Given the description of an element on the screen output the (x, y) to click on. 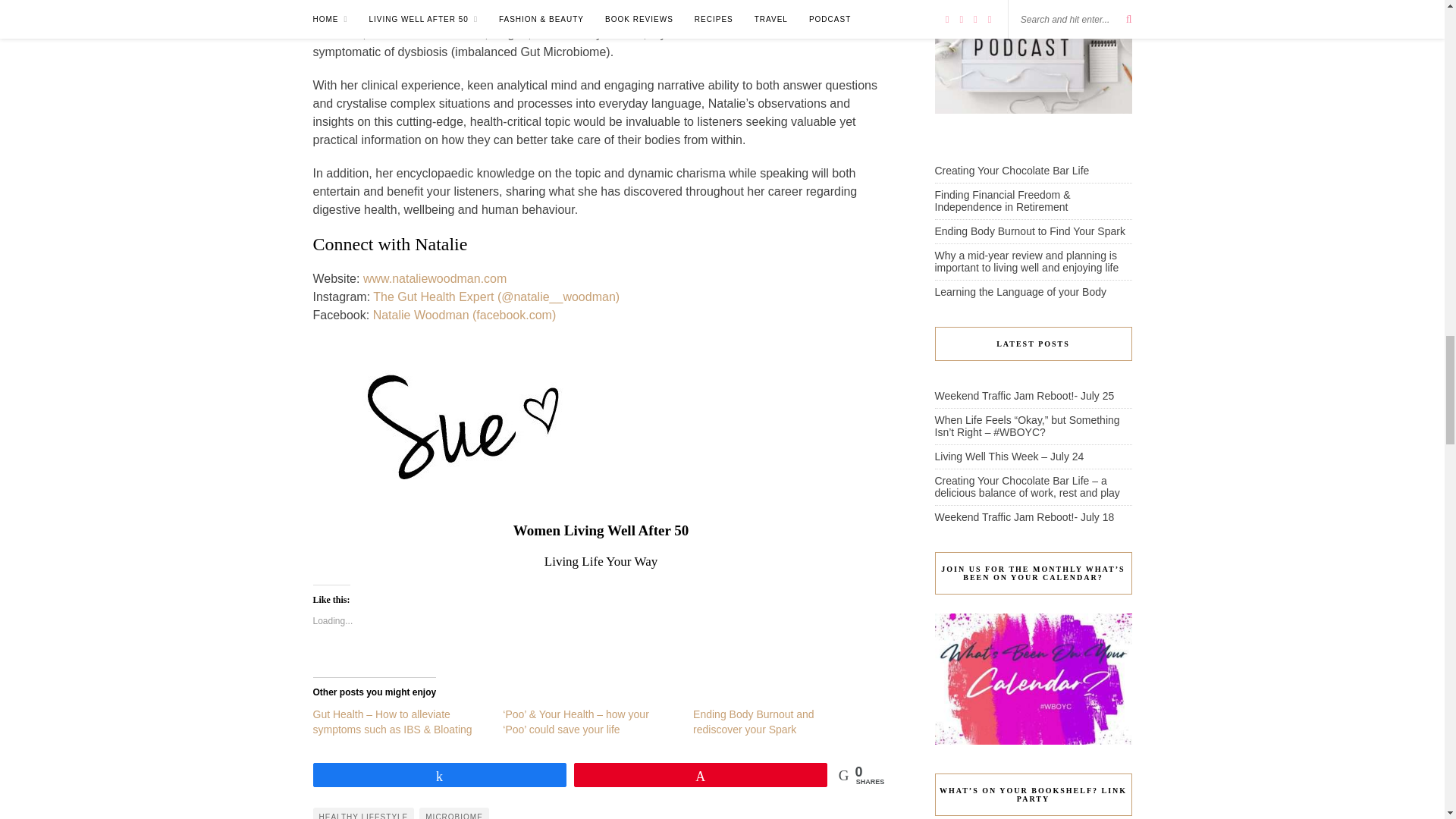
What's Been On Your Calendar? (1032, 678)
www.nataliewoodman.com (434, 278)
Ending Body Burnout and rediscover your Spark (753, 721)
